Given the description of an element on the screen output the (x, y) to click on. 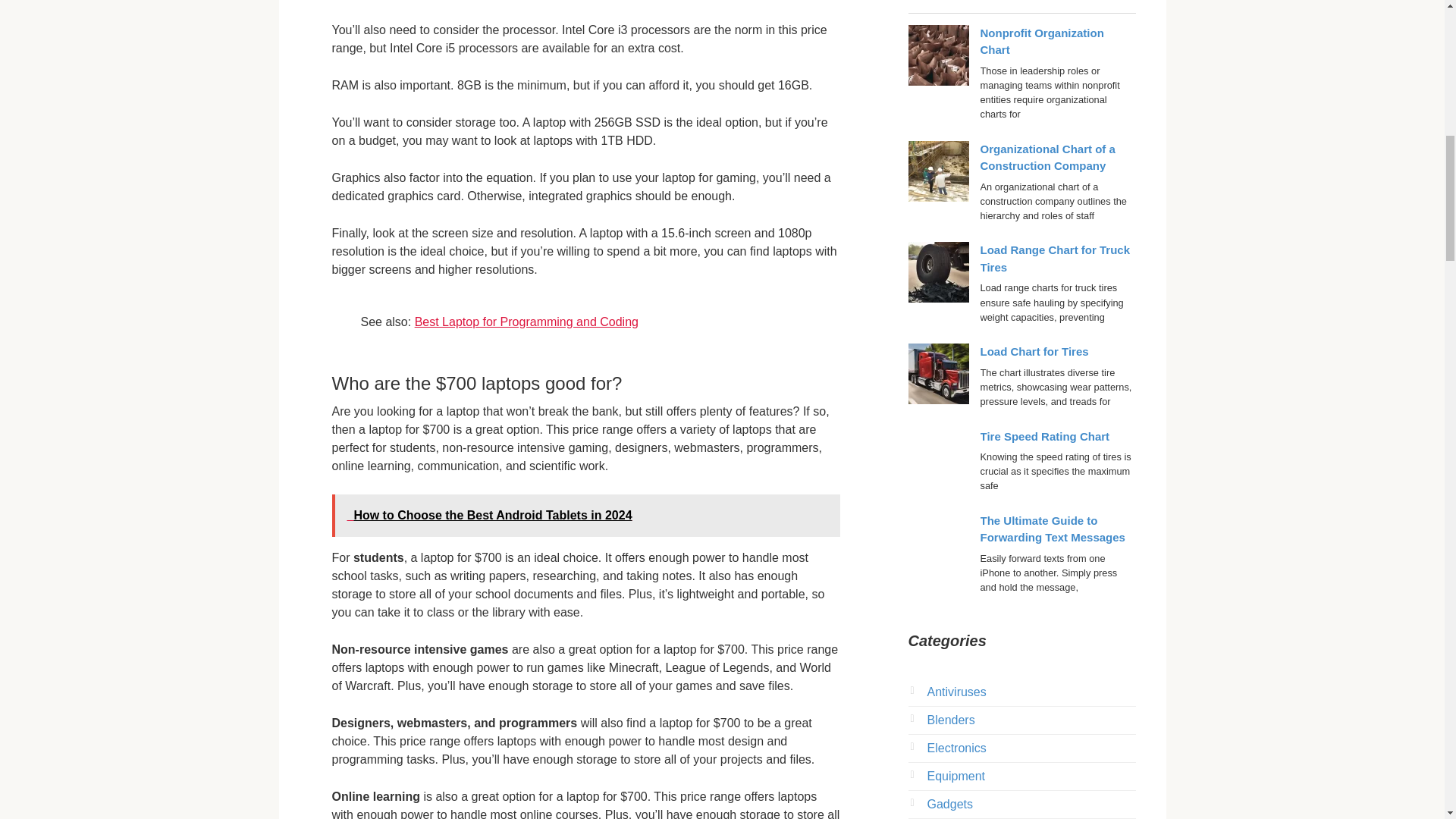
Best Laptop for Programming and Coding (526, 321)
  How to Choose the Best Android Tablets in 2024 (585, 515)
